Given the description of an element on the screen output the (x, y) to click on. 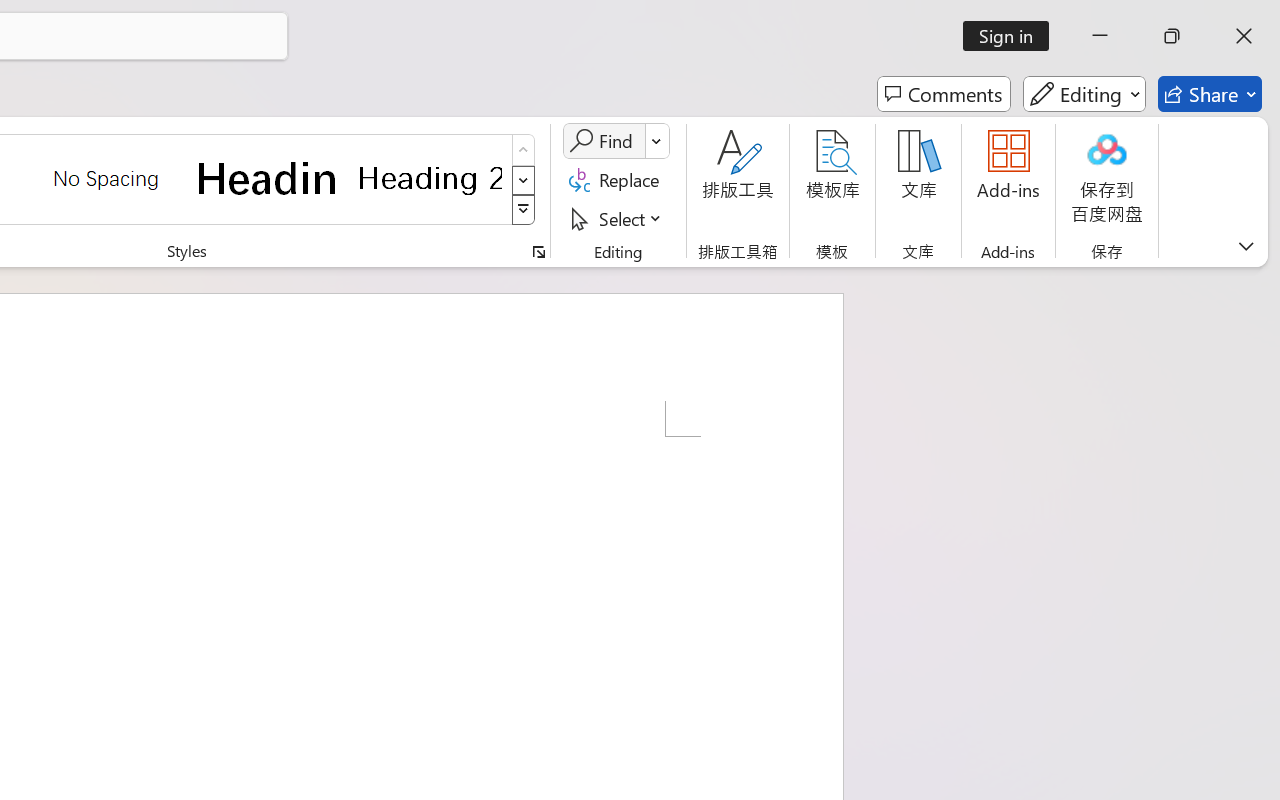
Sign in (1012, 35)
